Given the description of an element on the screen output the (x, y) to click on. 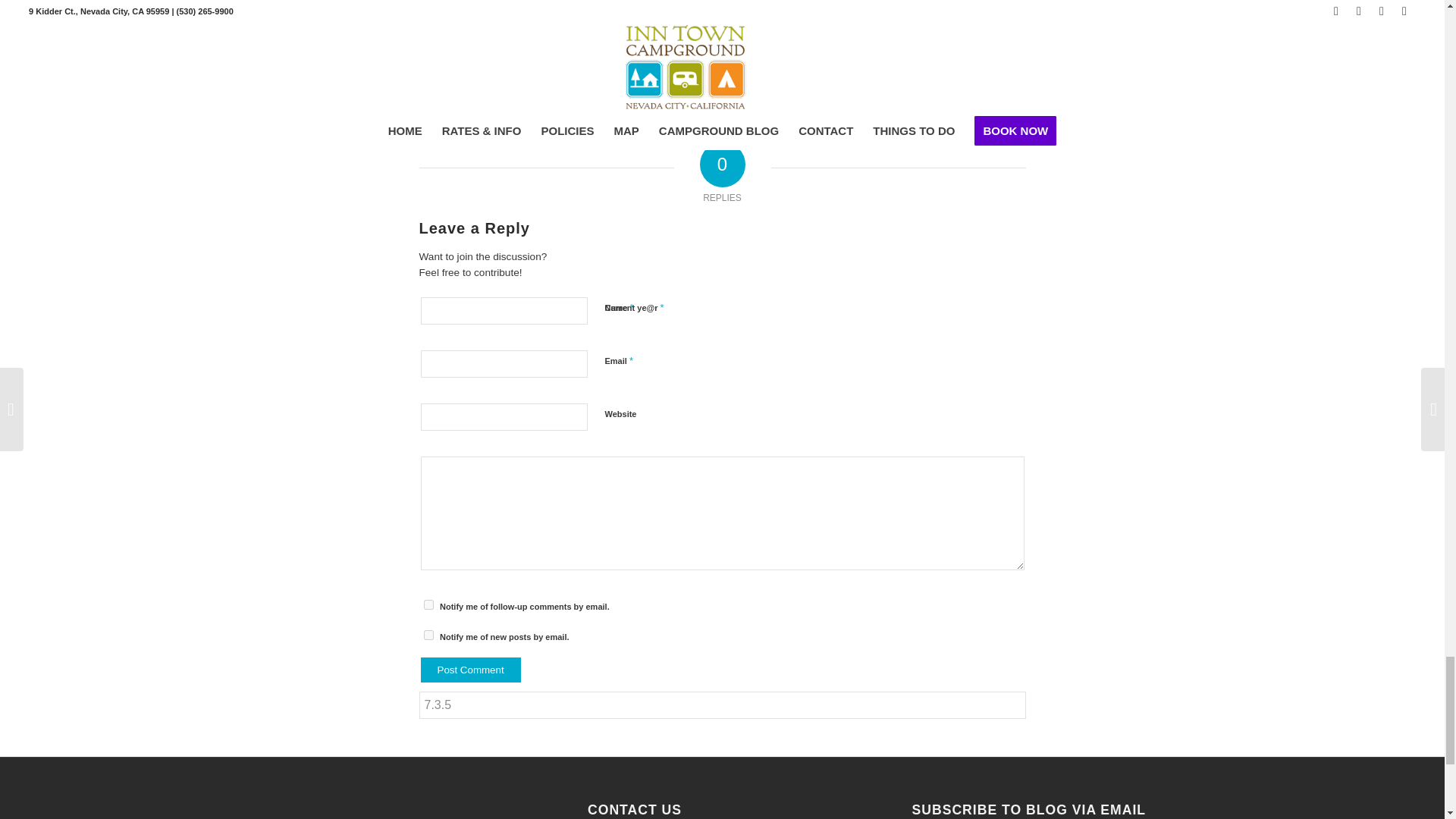
Post Comment (469, 669)
7.3.5 (722, 705)
subscribe (427, 604)
subscribe (427, 634)
